Given the description of an element on the screen output the (x, y) to click on. 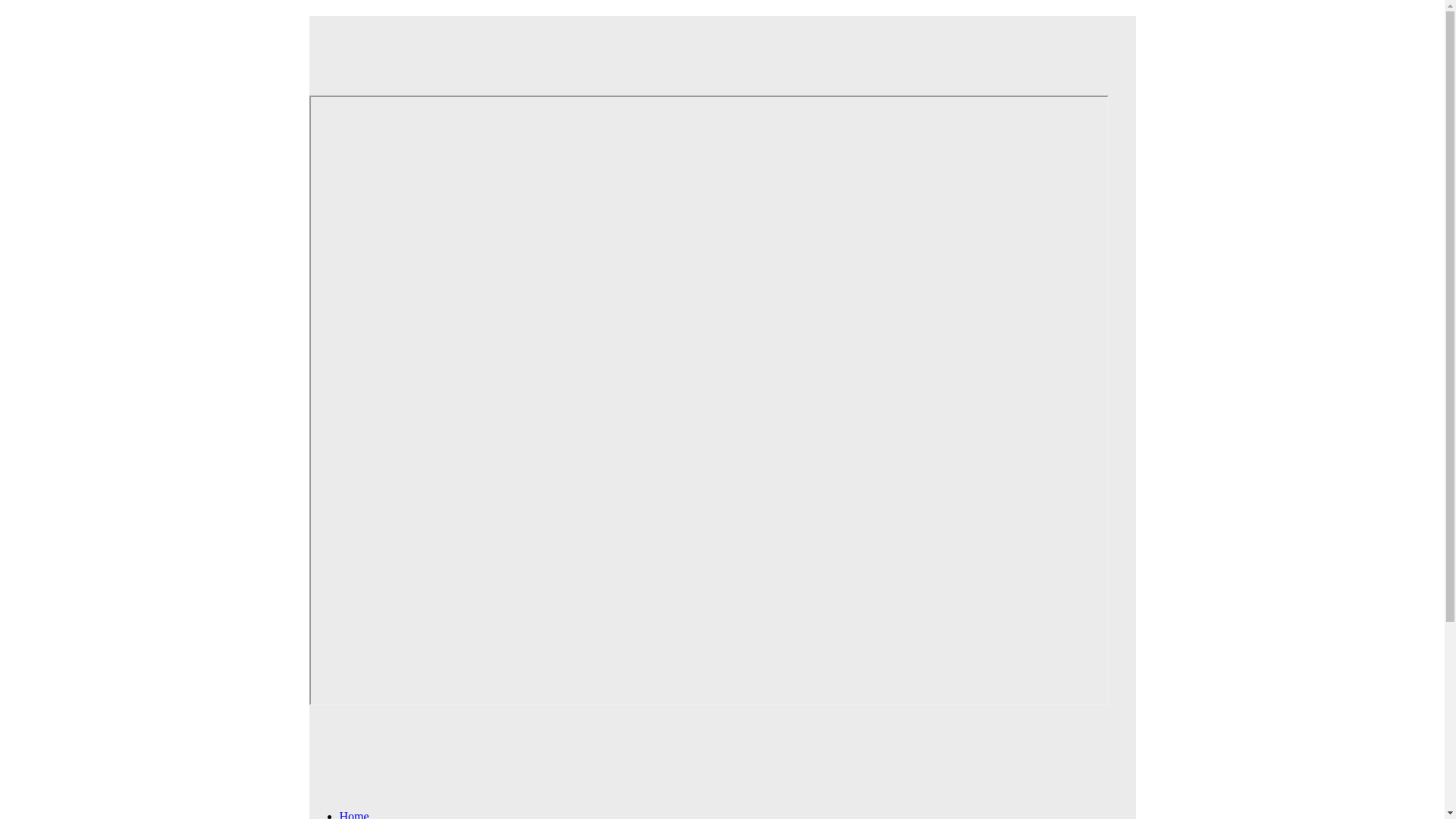
Web Hosting from Just Host Element type: text (707, 44)
